Given the description of an element on the screen output the (x, y) to click on. 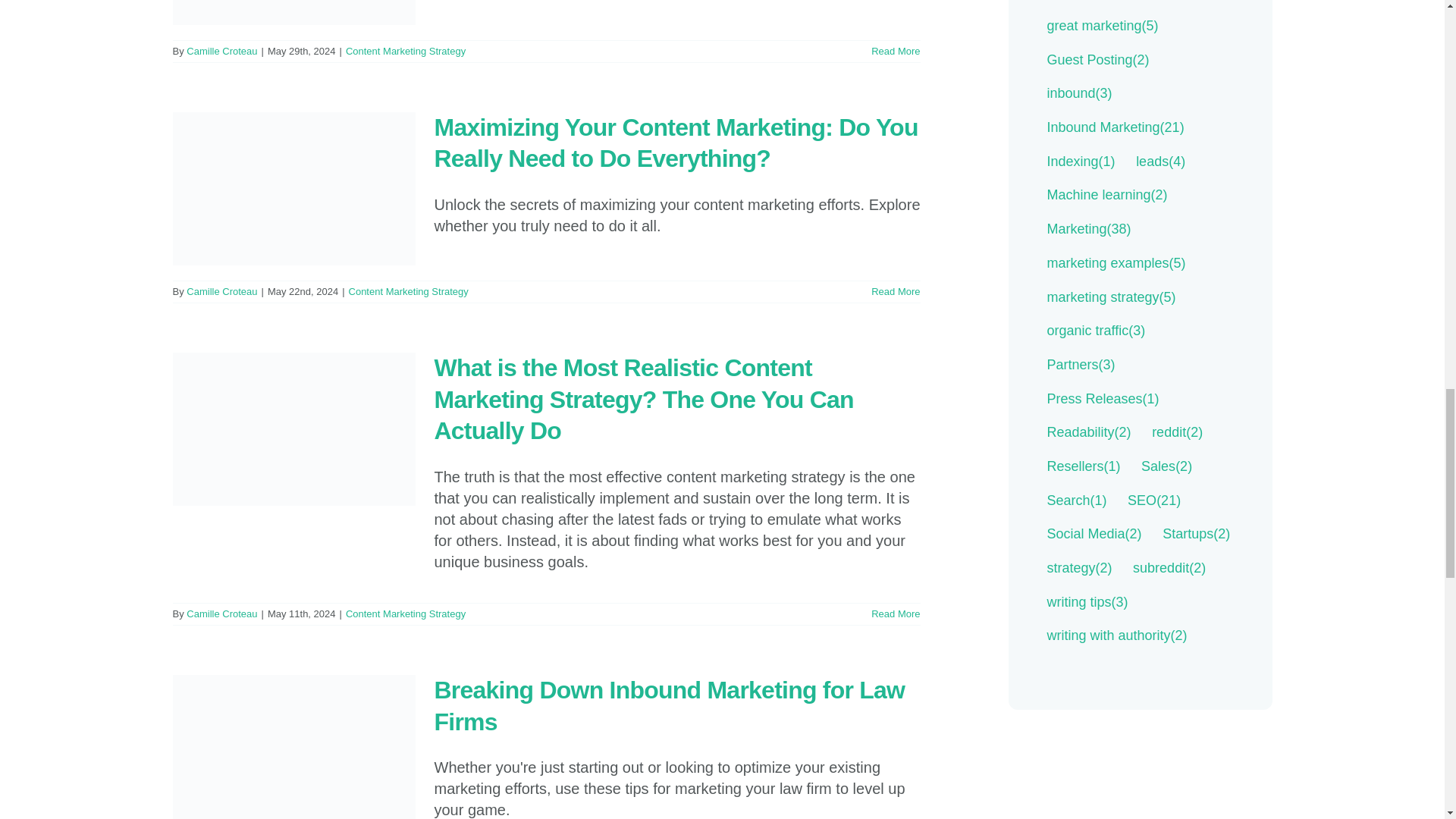
Posts by Camille Croteau (221, 613)
Posts by Camille Croteau (221, 291)
Posts by Camille Croteau (221, 50)
